Given the description of an element on the screen output the (x, y) to click on. 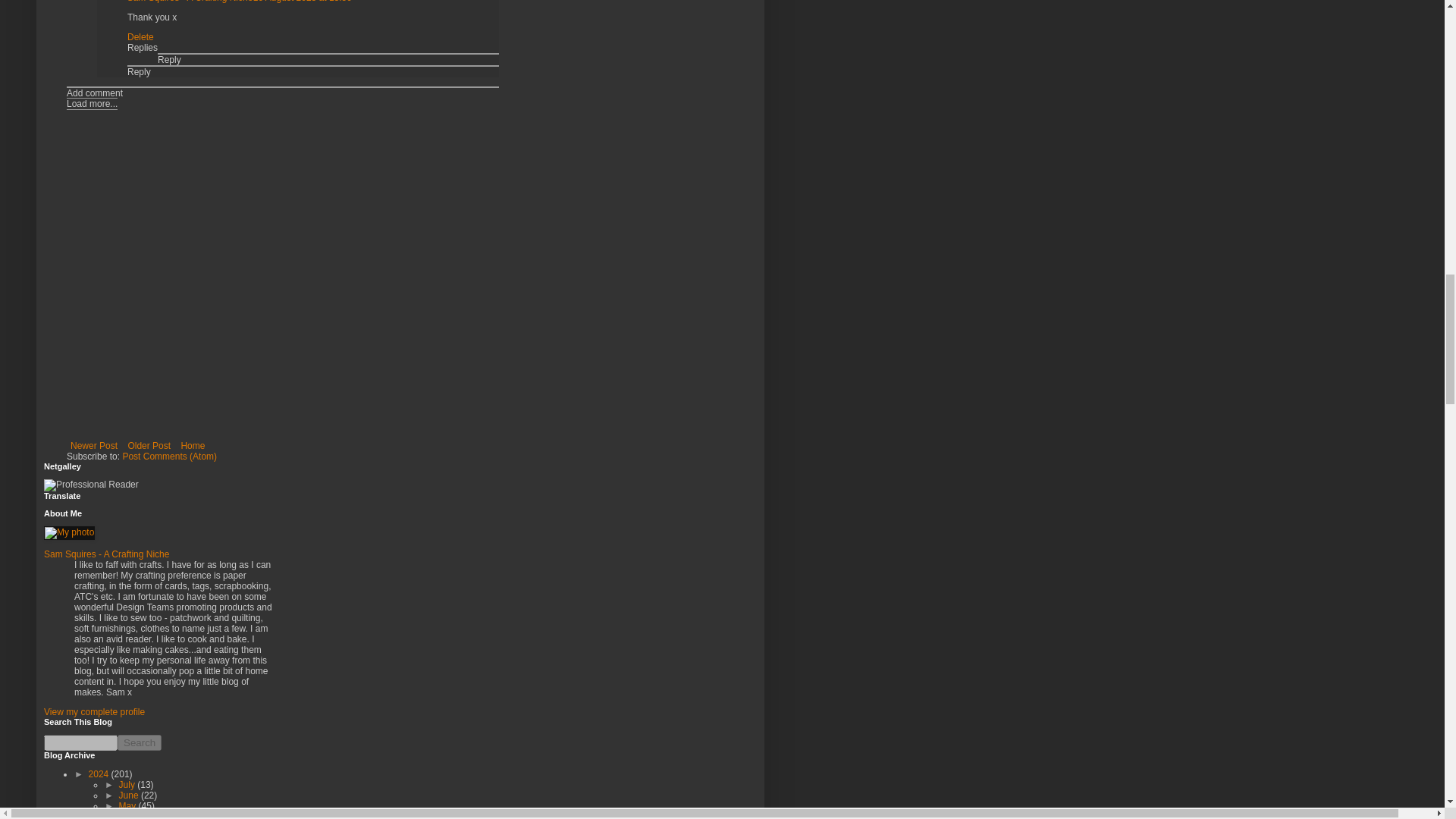
Delete (141, 36)
10 August 2023 at 13:50 (302, 1)
Replies (142, 47)
Newer Post (93, 445)
Sam Squires - A Crafting Niche (190, 1)
Reply (168, 59)
Professional Reader (90, 485)
search (139, 742)
search (80, 742)
Search (139, 742)
Search (139, 742)
Reply (139, 71)
Older Post (148, 445)
